Given the description of an element on the screen output the (x, y) to click on. 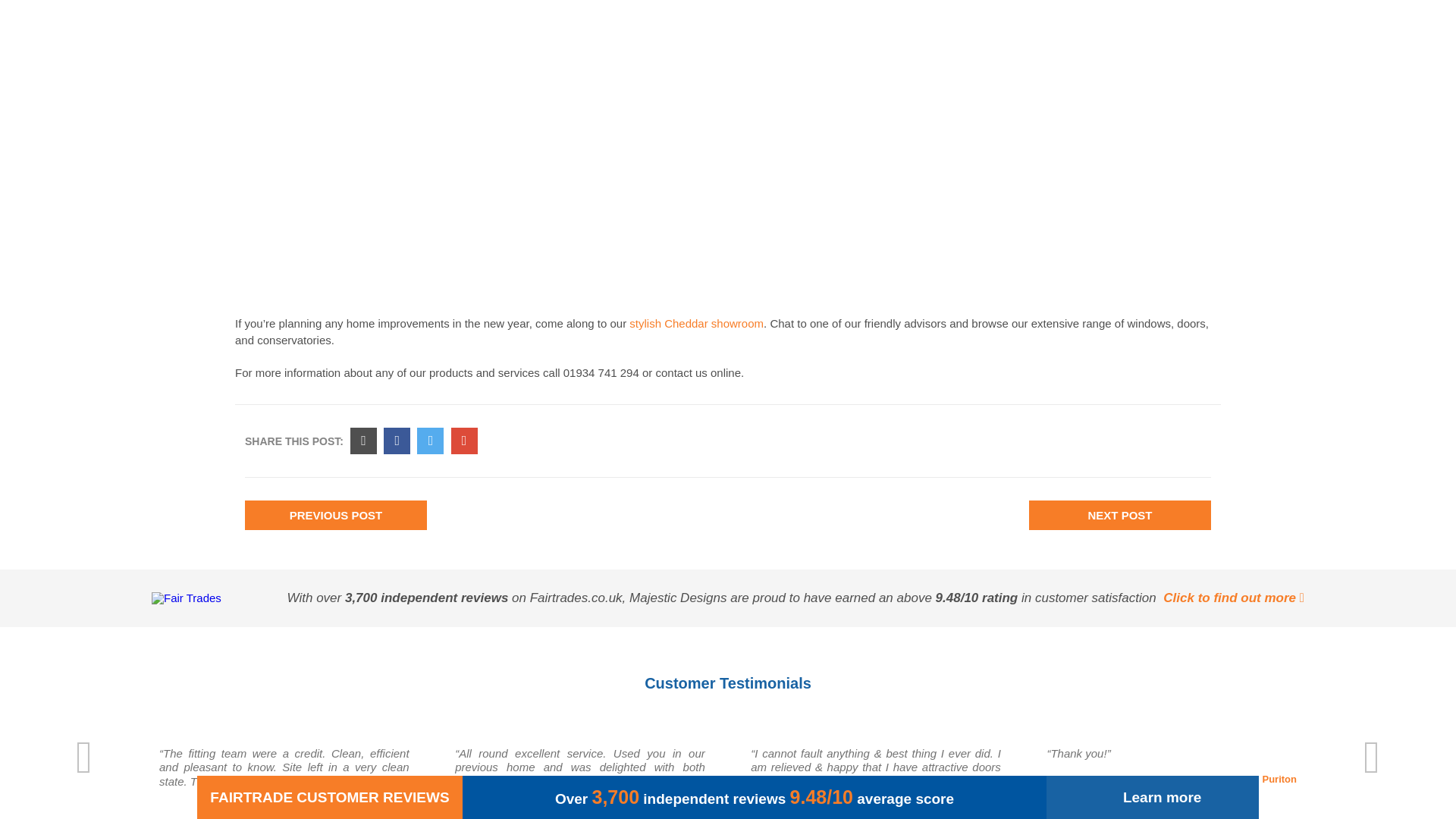
Find out more about our reviews (186, 598)
Share this post via Google Plus (464, 440)
Find out more about our reviews (1233, 597)
Share this post via email (363, 440)
Share this post via Twitter (430, 440)
Share this post via Facebook (397, 440)
